Given the description of an element on the screen output the (x, y) to click on. 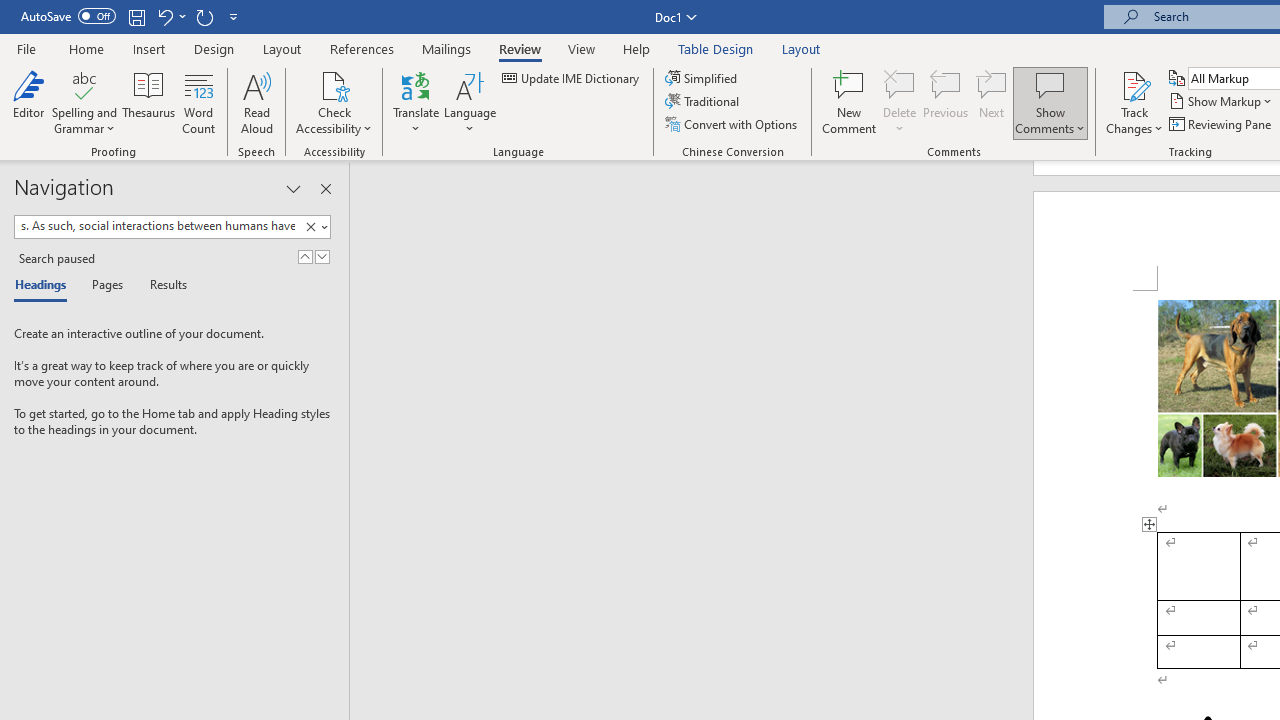
Next (991, 102)
Track Changes (1134, 84)
Help (637, 48)
Headings (45, 285)
Undo Style (164, 15)
Check Accessibility (334, 102)
Translate (415, 102)
Traditional (703, 101)
Delete (900, 84)
Pages (105, 285)
Thesaurus... (148, 102)
Task Pane Options (293, 188)
Undo Style (170, 15)
Save (136, 15)
